Given the description of an element on the screen output the (x, y) to click on. 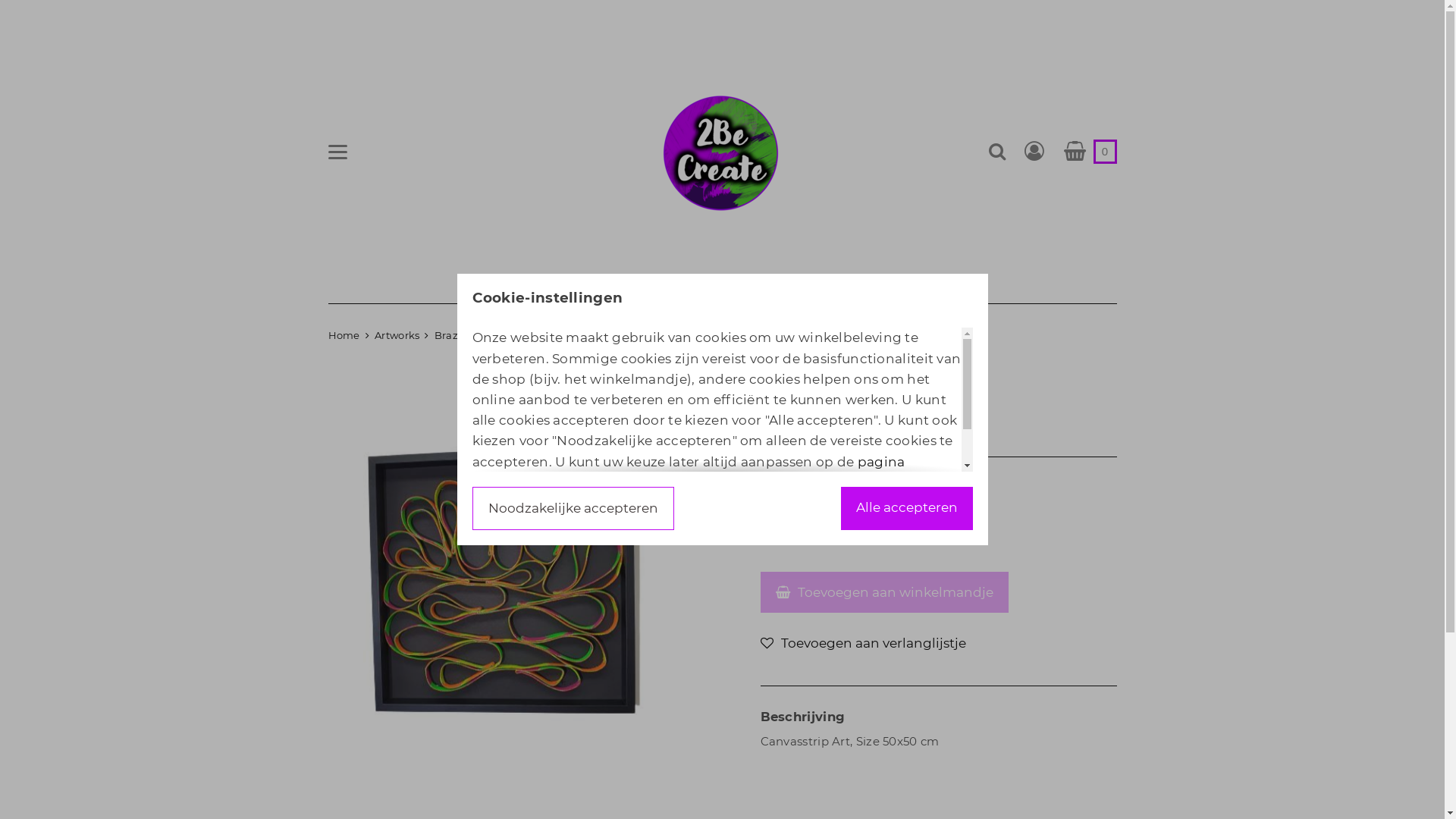
Artworks Element type: text (396, 335)
pagina cookieverklaring Element type: text (687, 471)
Noodzakelijke accepteren Element type: text (572, 508)
Alle accepteren Element type: text (906, 508)
Home Element type: text (343, 335)
juridische kennisgeving Element type: text (671, 492)
privacybeleid Element type: text (675, 502)
Zoeken Element type: text (996, 150)
Brazil (Sold) Element type: text (465, 335)
2BeCreate Art Creations by Christa Element type: hover (722, 151)
Toevoegen aan winkelmandje Element type: text (883, 592)
Toevoegen aan verlanglijstje Element type: text (862, 643)
